Given the description of an element on the screen output the (x, y) to click on. 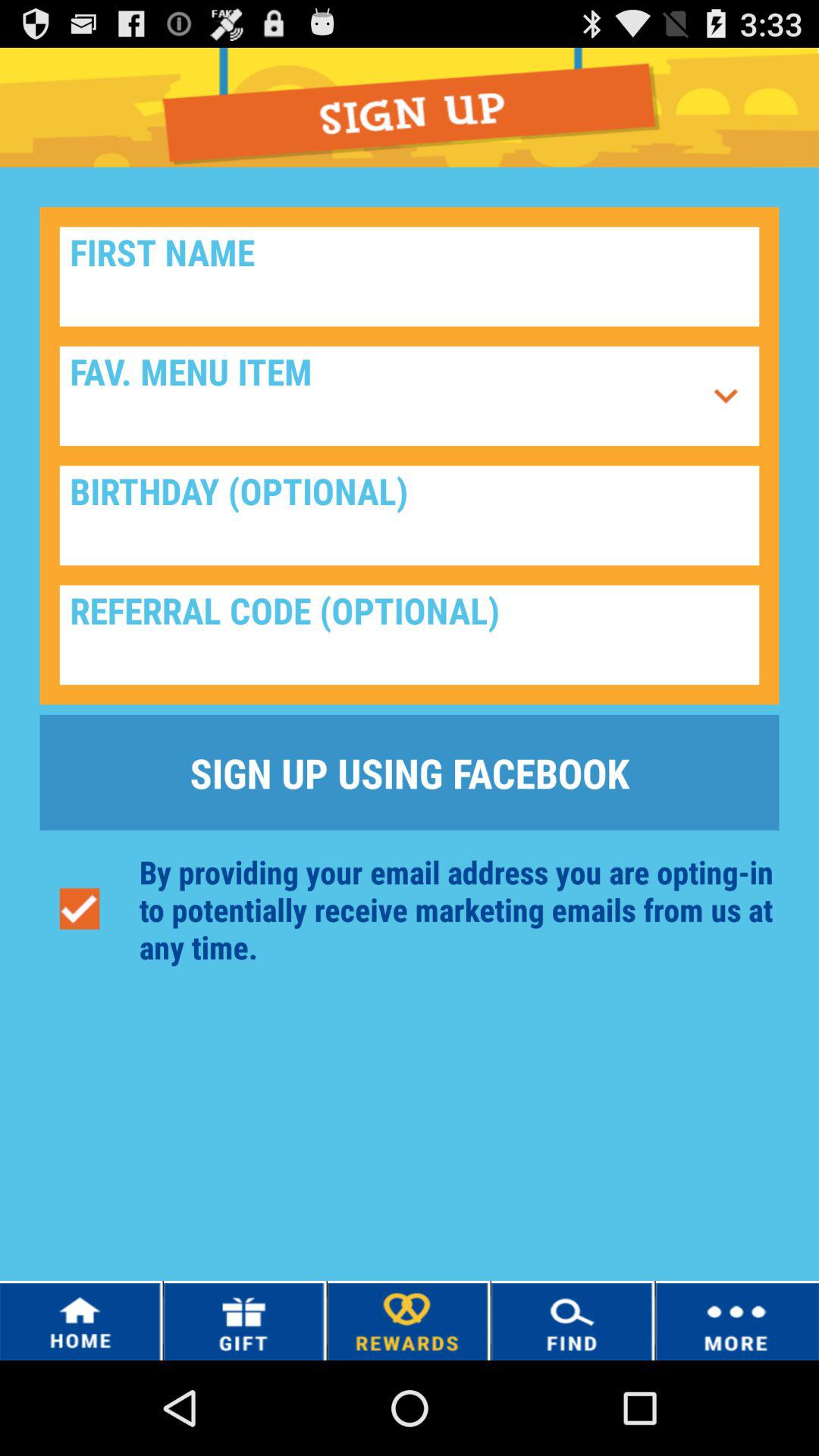
turn off the app to the left of the by providing your app (79, 909)
